Given the description of an element on the screen output the (x, y) to click on. 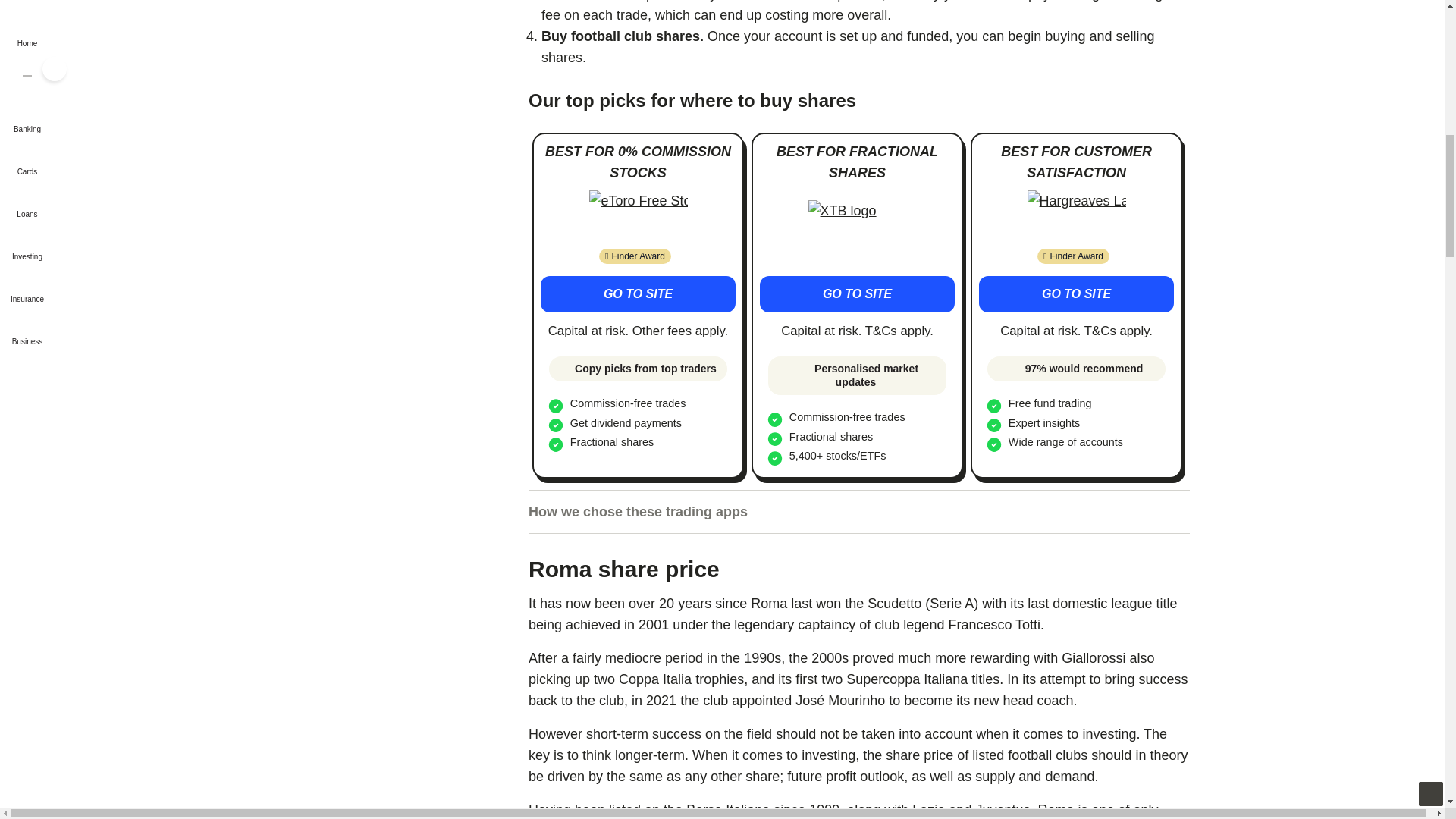
Go to Hargreaves Lansdown (1076, 217)
Go to XTB (857, 226)
Go to eToro (638, 217)
Go to XTB (857, 294)
Go to Hargreaves Lansdown (1075, 294)
Go to eToro (637, 294)
